Given the description of an element on the screen output the (x, y) to click on. 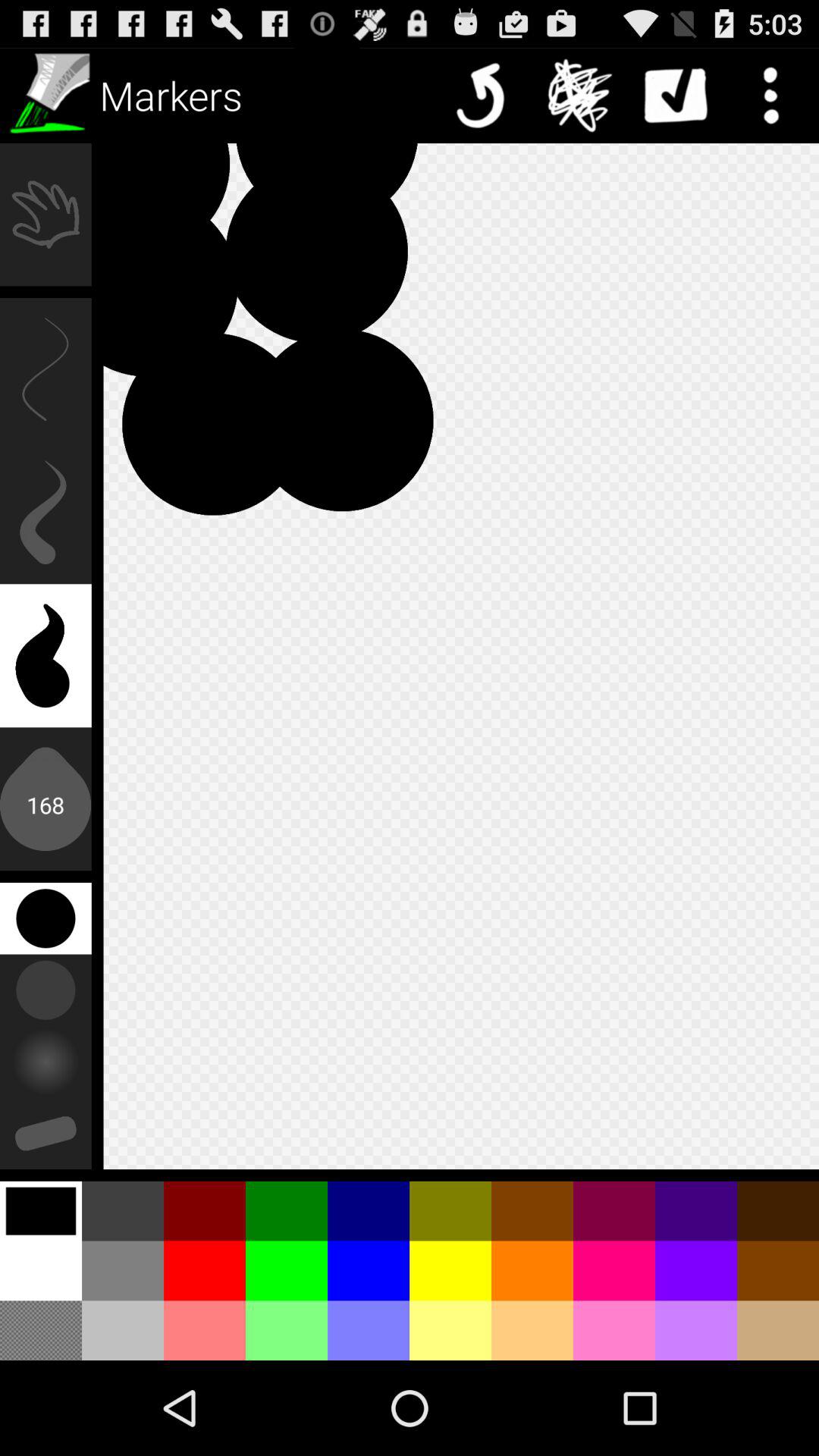
click on the second image from right in last third row (696, 1210)
click on the color between white and red at the left side bottom of the page (122, 1270)
click on the 3rd color from the left in the 2nd row at the bottom of the page (204, 1270)
click on the 3rd color from the left in the last row at the bottom of the page (204, 1329)
click on the 4th color from the left in the last row at the bottom of the page (286, 1329)
click on the tick button (675, 95)
click on the second image from right in last row (696, 1329)
click on the third image from right in the last row (614, 1329)
